Given the description of an element on the screen output the (x, y) to click on. 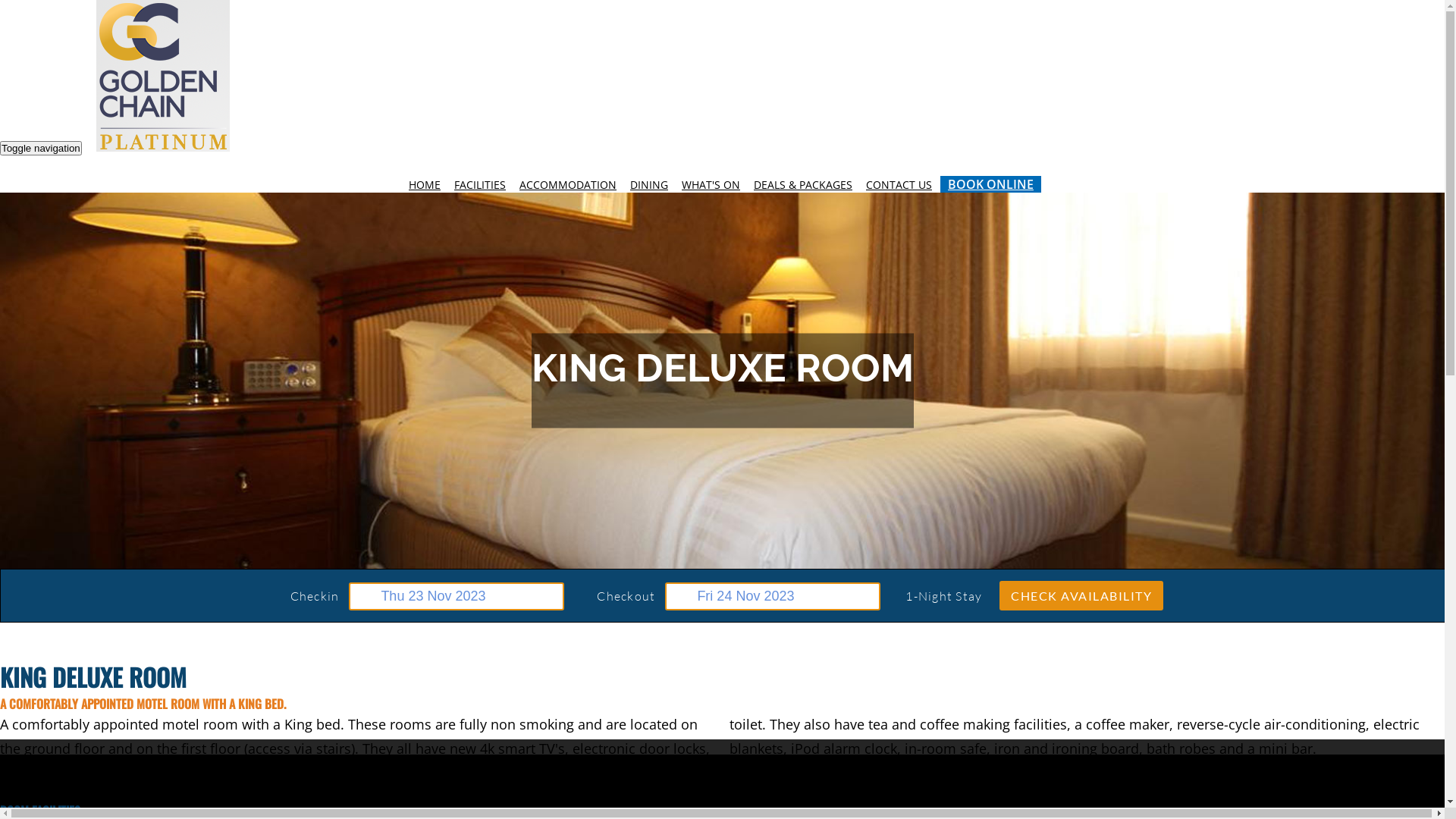
CHECK AVAILABILITY Element type: text (1081, 595)
Toggle navigation Element type: text (40, 148)
CONTACT US Element type: text (898, 184)
BOOK ONLINE Element type: text (990, 184)
DINING Element type: text (648, 184)
FACILITIES Element type: text (479, 184)
HOME Element type: text (424, 184)
WHAT'S ON Element type: text (710, 184)
ACCOMMODATION Element type: text (567, 184)
The Country Plaza Queanbeyan  Element type: hover (162, 75)
DEALS & PACKAGES Element type: text (802, 184)
